Given the description of an element on the screen output the (x, y) to click on. 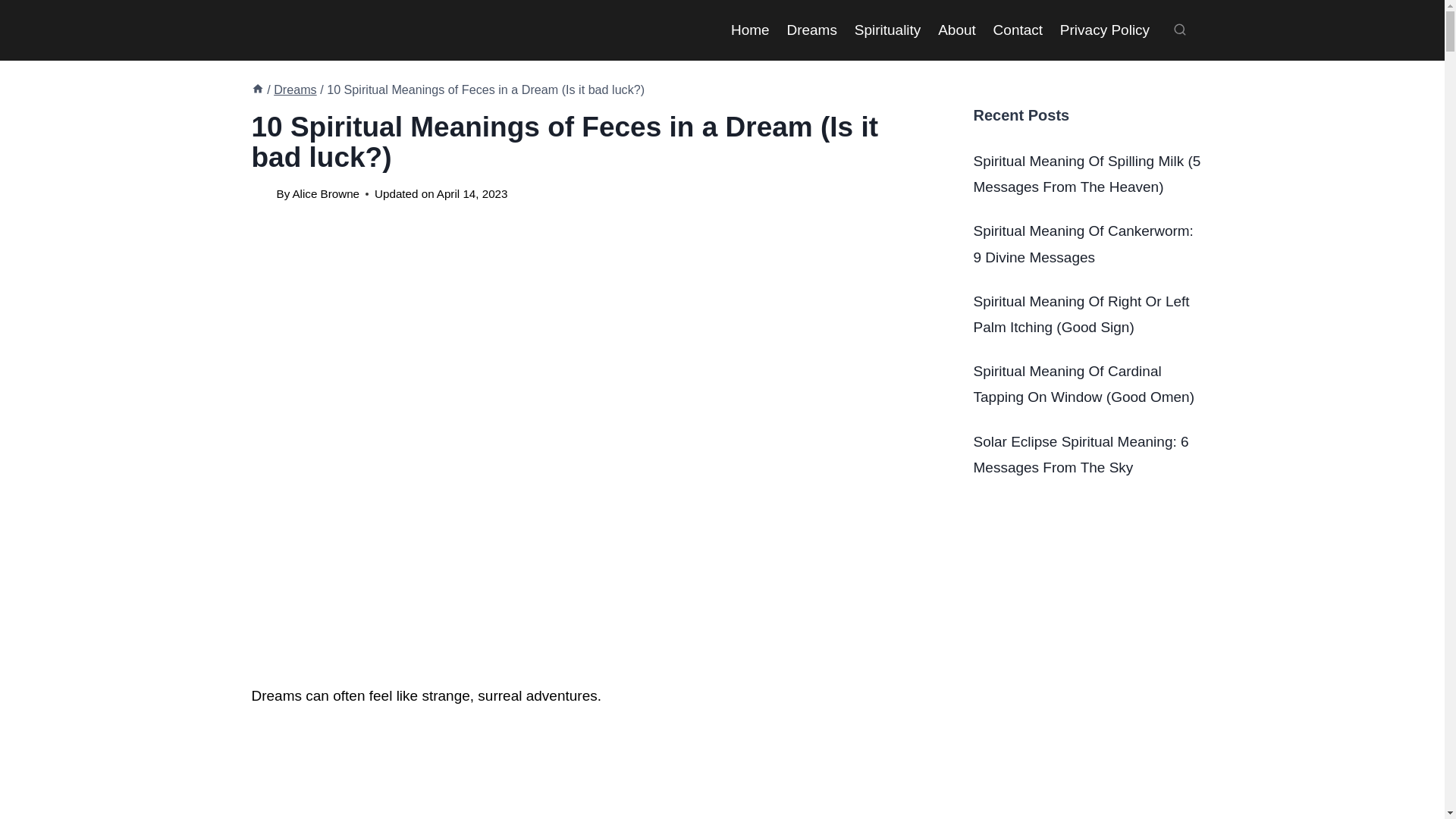
Home (257, 89)
Home (749, 29)
Contact (1017, 29)
Privacy Policy (1104, 29)
About (957, 29)
Alice Browne (325, 193)
Dreams (811, 29)
Spirituality (886, 29)
Dreams (295, 89)
